Given the description of an element on the screen output the (x, y) to click on. 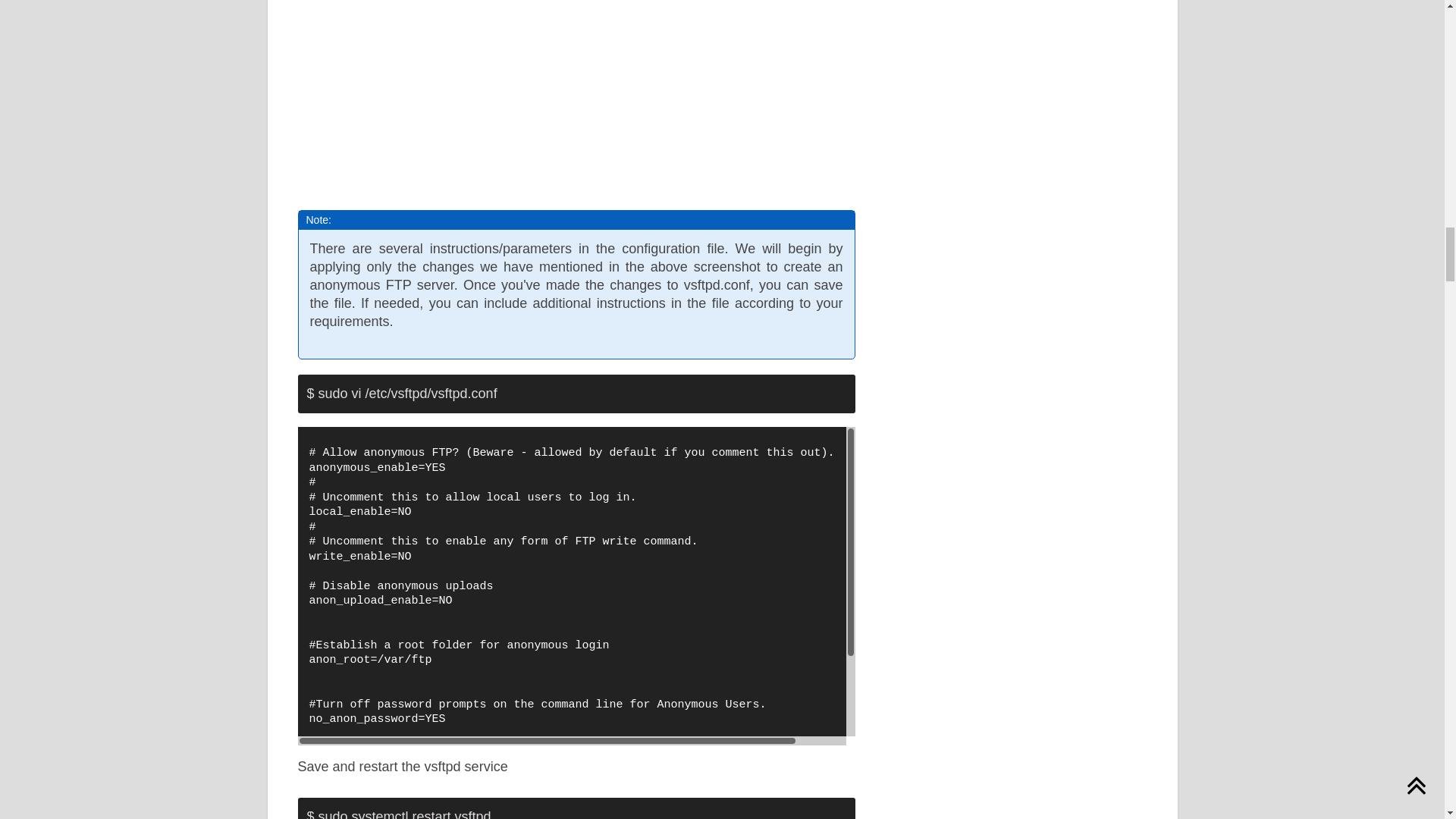
How to Set up Anonymous FTP in Rocky Linux 8.4 3 (562, 91)
